Given the description of an element on the screen output the (x, y) to click on. 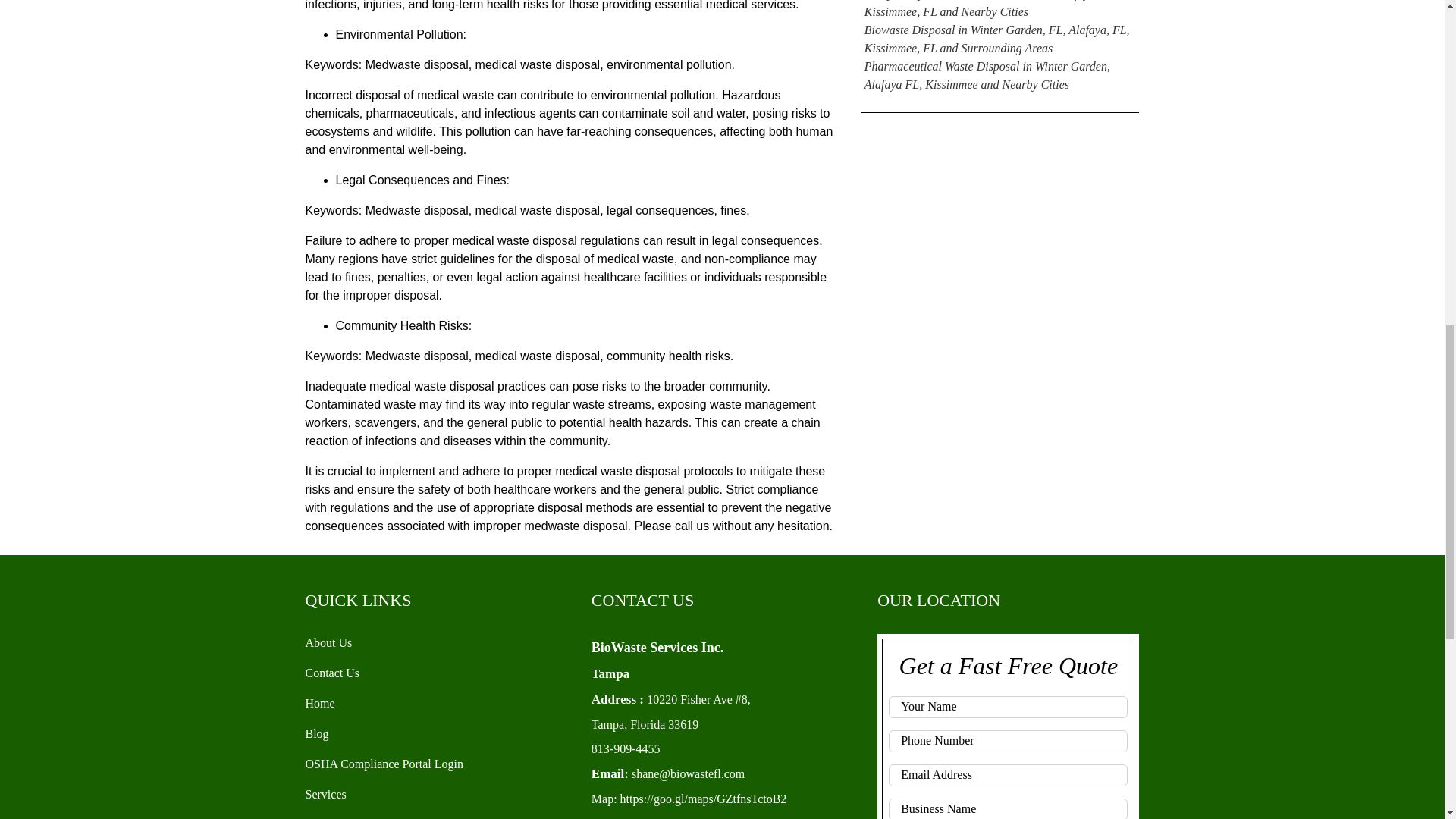
Contact Us (331, 672)
Blog (316, 733)
Services (325, 793)
Home (319, 703)
About Us (328, 642)
OSHA Compliance Portal Login (383, 763)
